Given the description of an element on the screen output the (x, y) to click on. 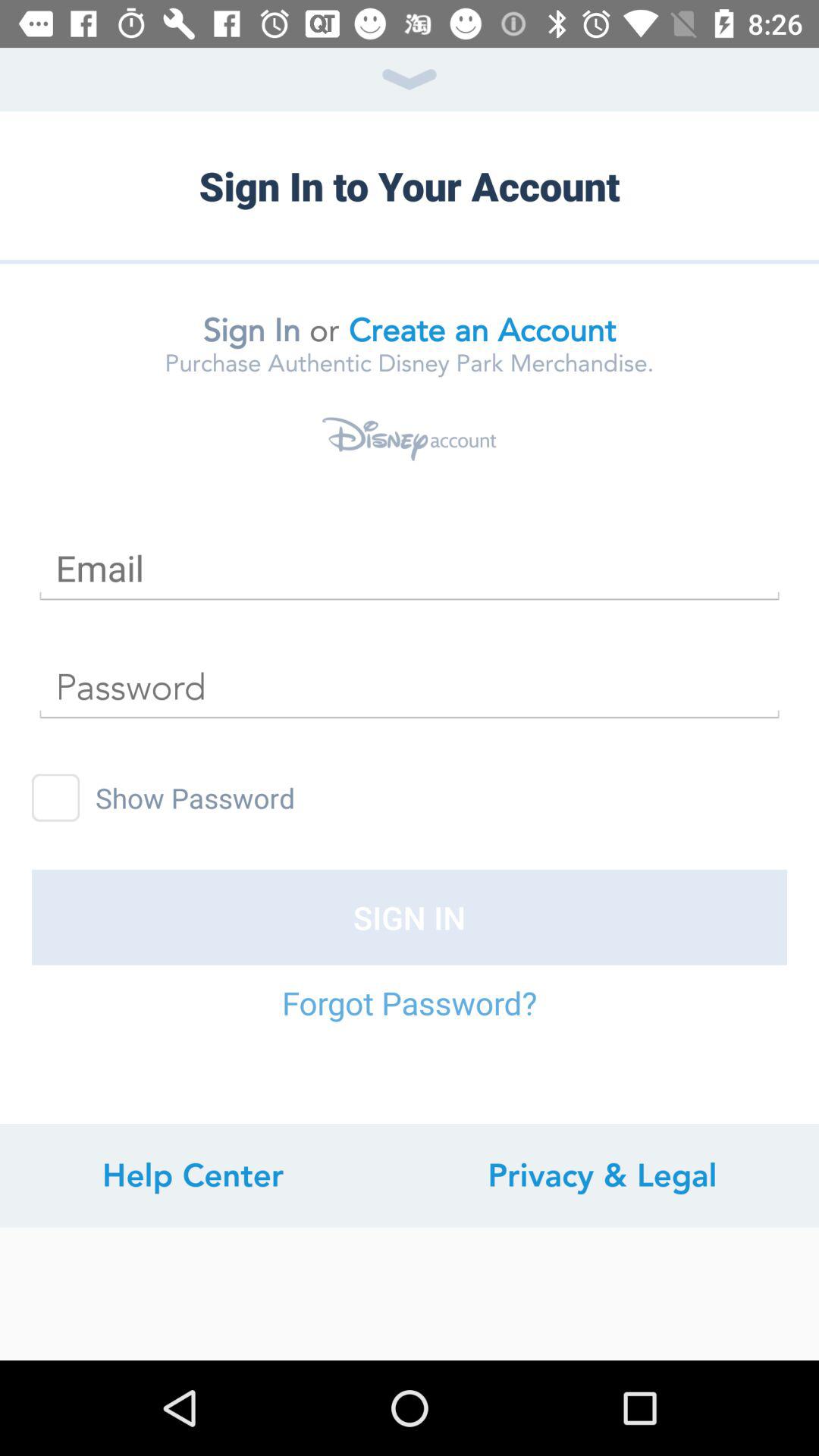
choose the icon at the bottom left corner (192, 1175)
